Given the description of an element on the screen output the (x, y) to click on. 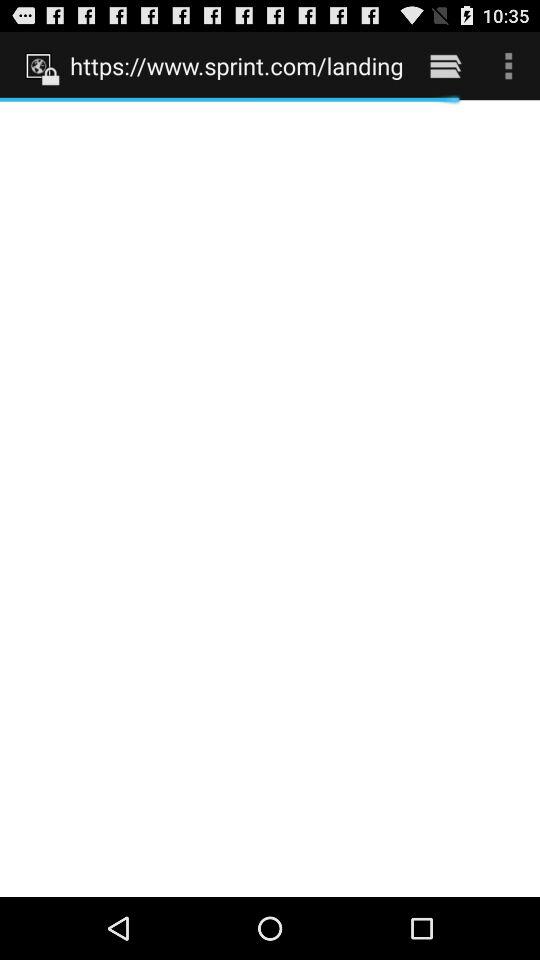
press https www sprint icon (235, 65)
